Given the description of an element on the screen output the (x, y) to click on. 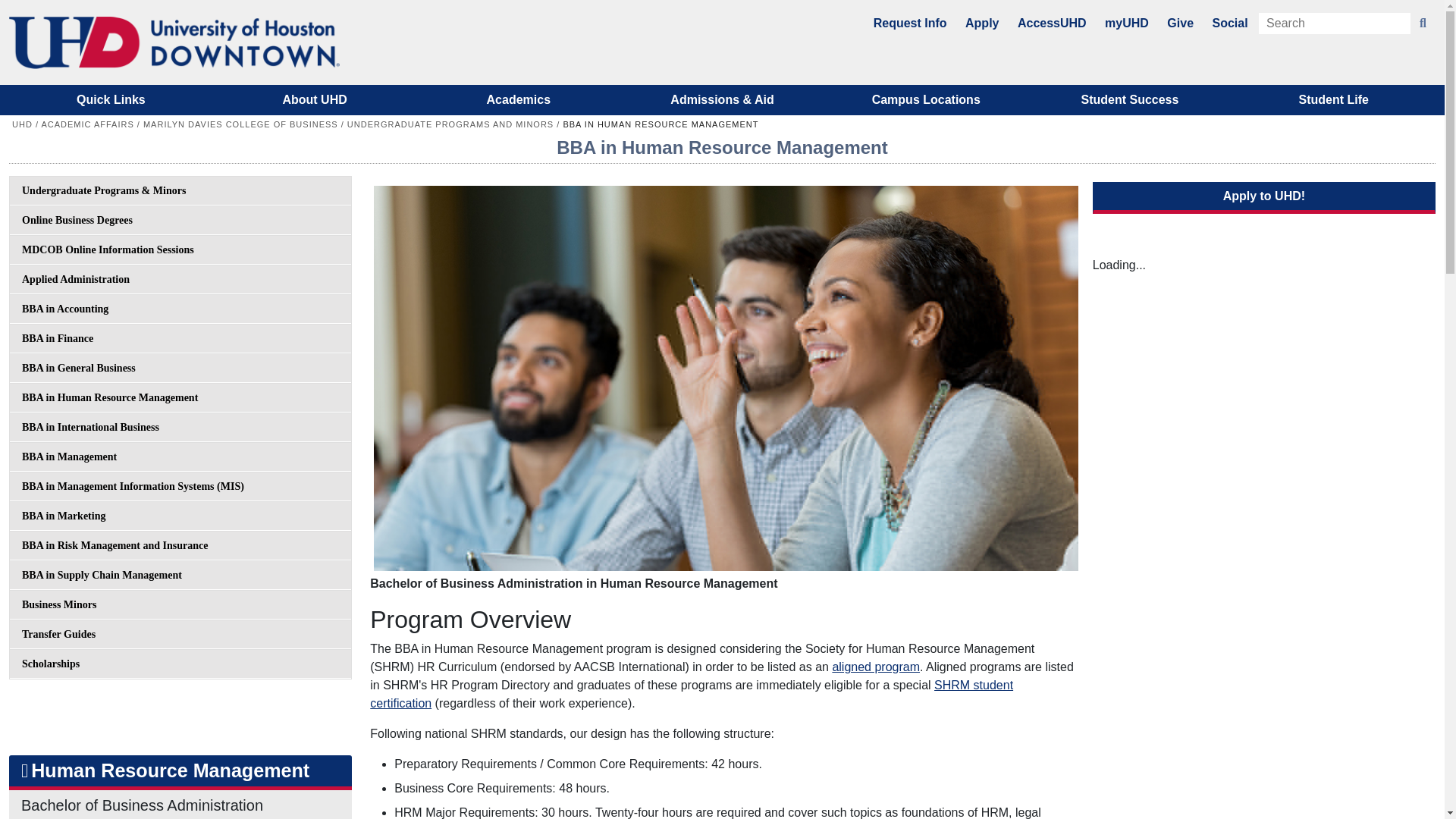
myUHD (1126, 22)
AccessUHD (1051, 22)
Social (1229, 22)
Apply (981, 22)
Request Info (910, 22)
Quick Links (110, 100)
submit (1422, 23)
Give (1180, 22)
